Given the description of an element on the screen output the (x, y) to click on. 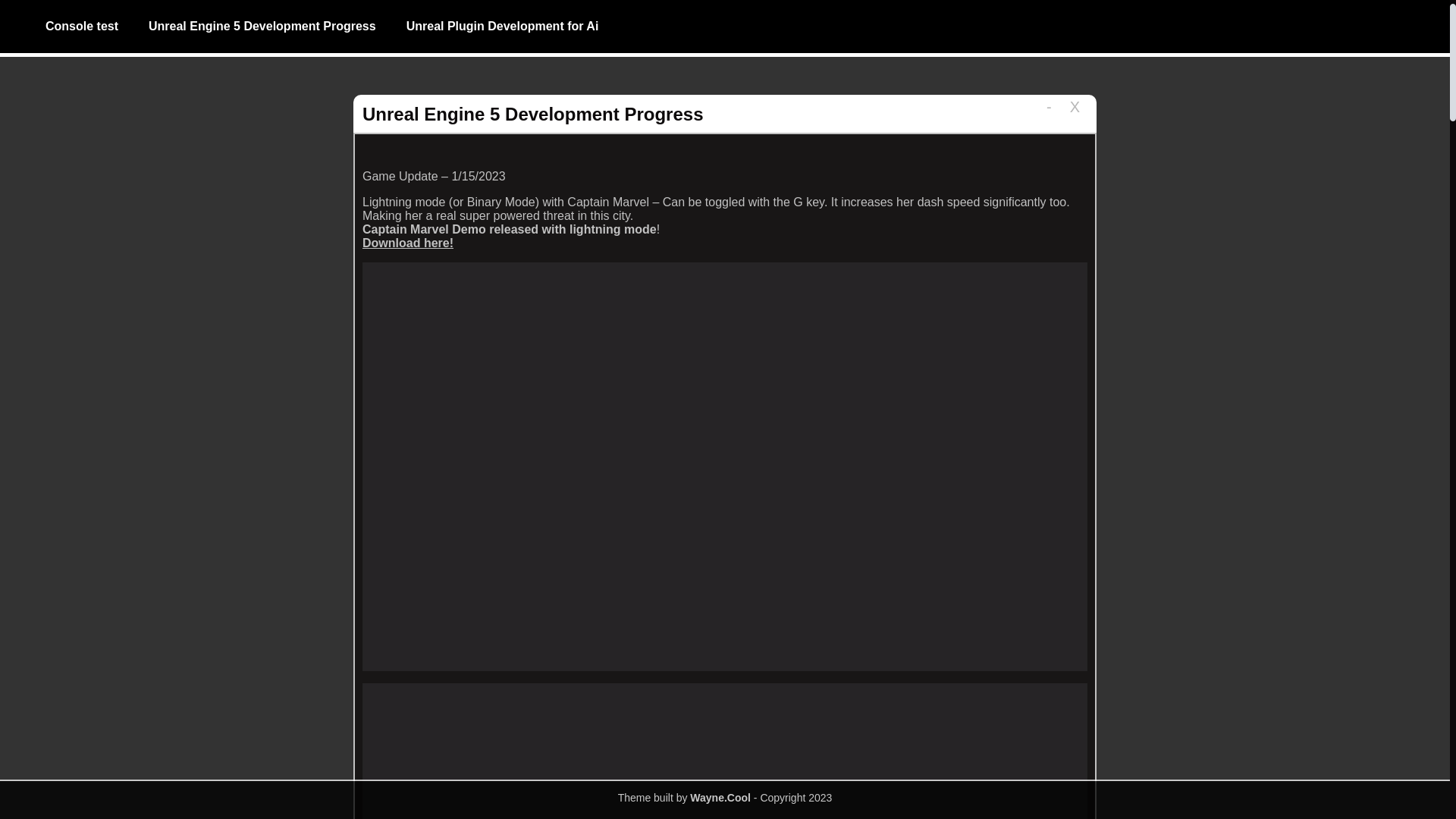
Unreal Engine 5 Development Progress (262, 26)
X (907, 107)
Download here! (272, 242)
Console test (81, 26)
Unreal Plugin Development for Ai (502, 26)
Wayne.Cool (720, 797)
